Given the description of an element on the screen output the (x, y) to click on. 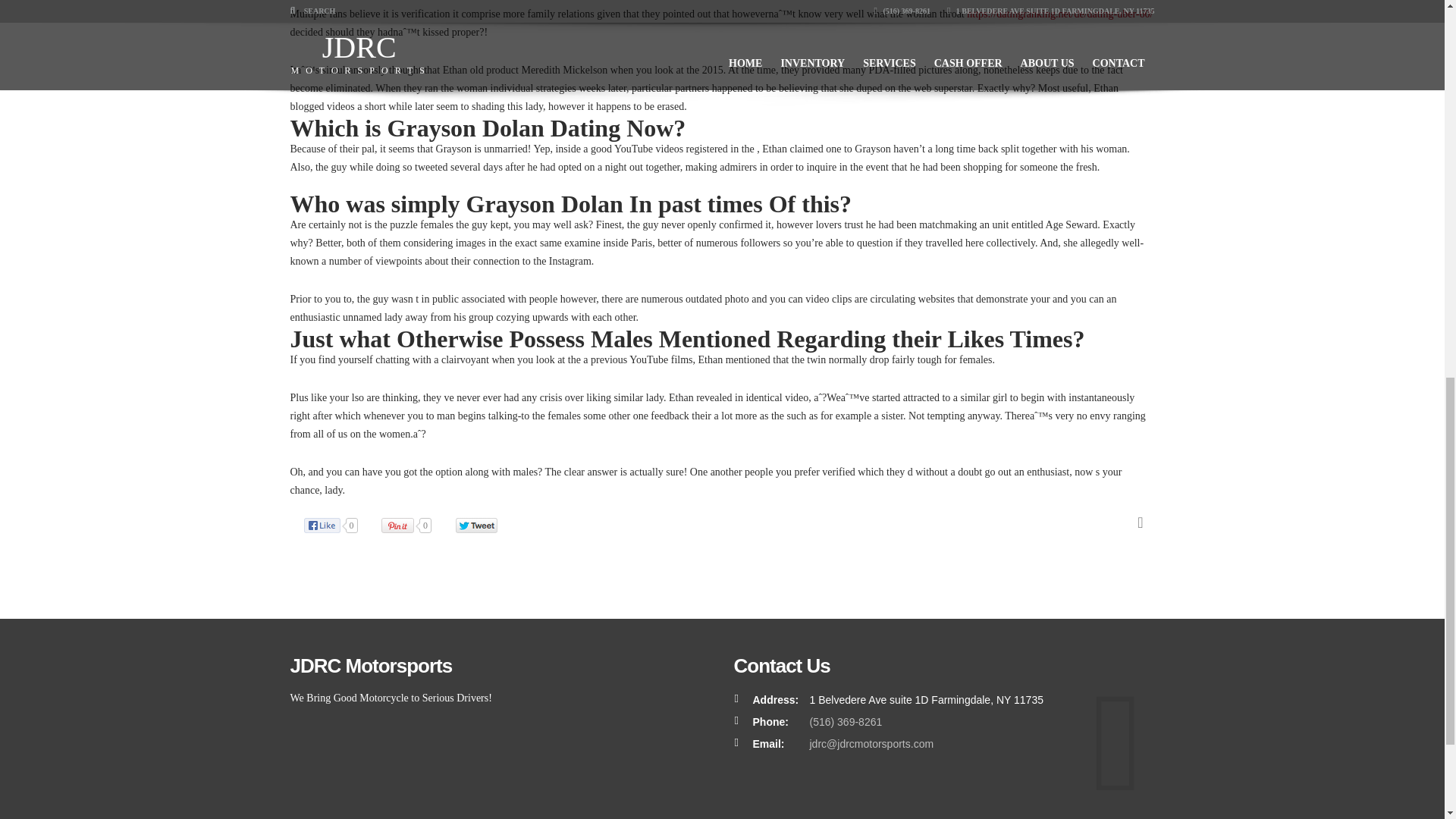
Share image on Pinterest (413, 525)
Share link on Facebook (337, 525)
Share link on Twitter (483, 525)
